Given the description of an element on the screen output the (x, y) to click on. 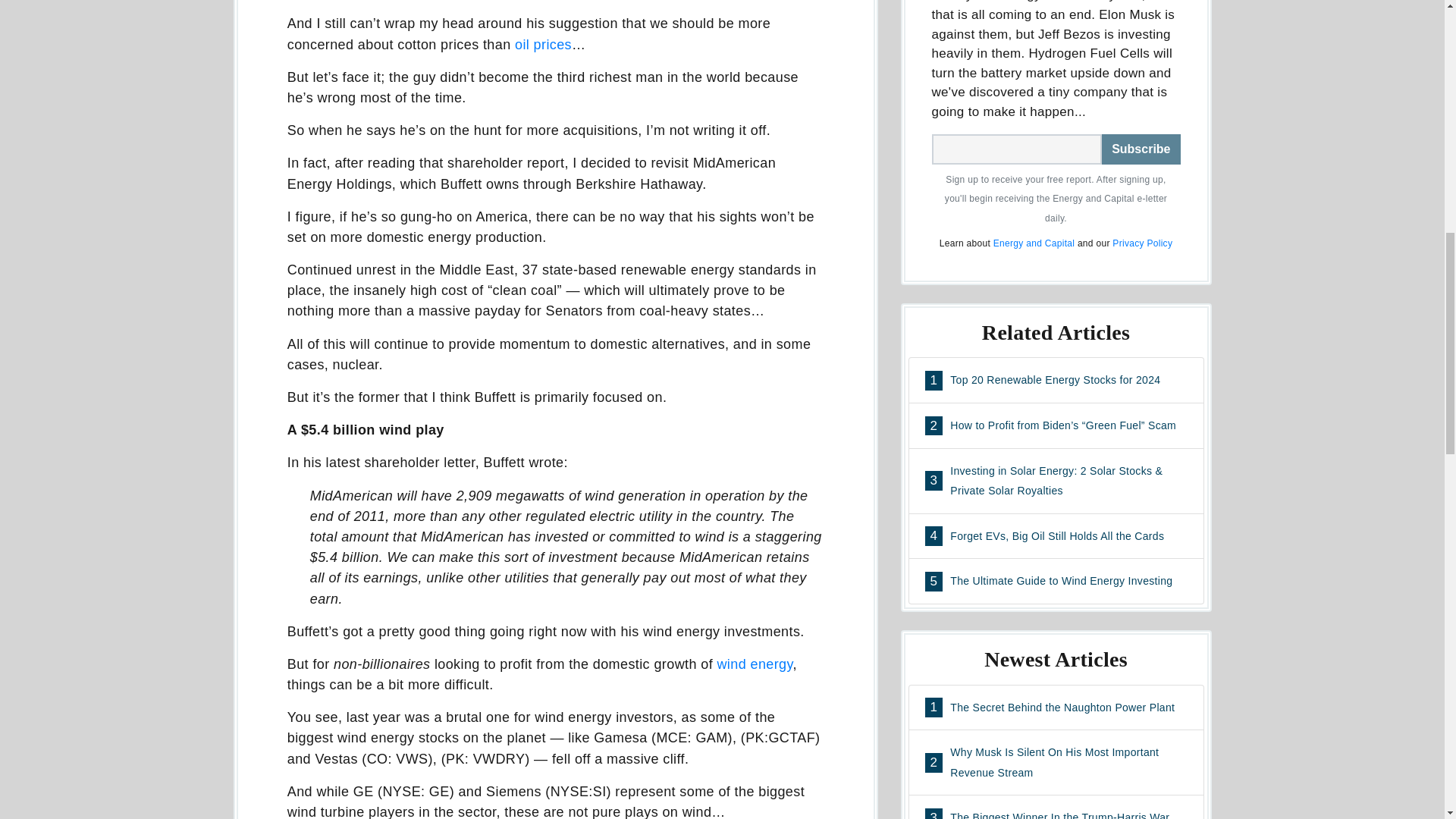
oil prices (543, 44)
wind energy (754, 663)
Energy and Capital (1033, 243)
Subscribe (1140, 148)
Privacy Policy (1056, 380)
